Given the description of an element on the screen output the (x, y) to click on. 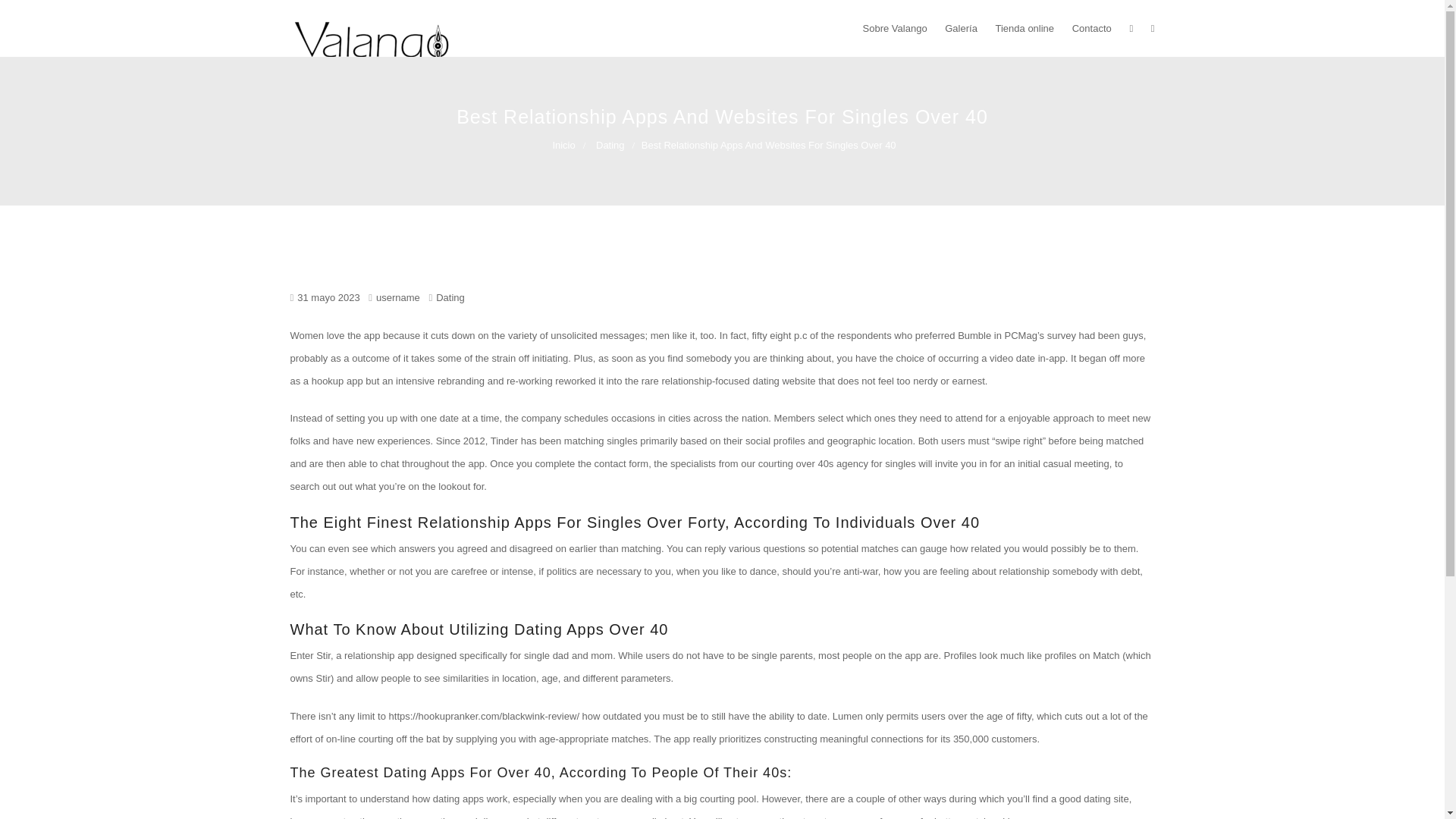
Inicio (568, 144)
Contacto (1091, 28)
username (394, 297)
31 mayo 2023 (328, 297)
Dating (615, 144)
Glass design (333, 121)
Dating (449, 297)
Tienda online (1024, 28)
Sobre Valango (895, 28)
